Given the description of an element on the screen output the (x, y) to click on. 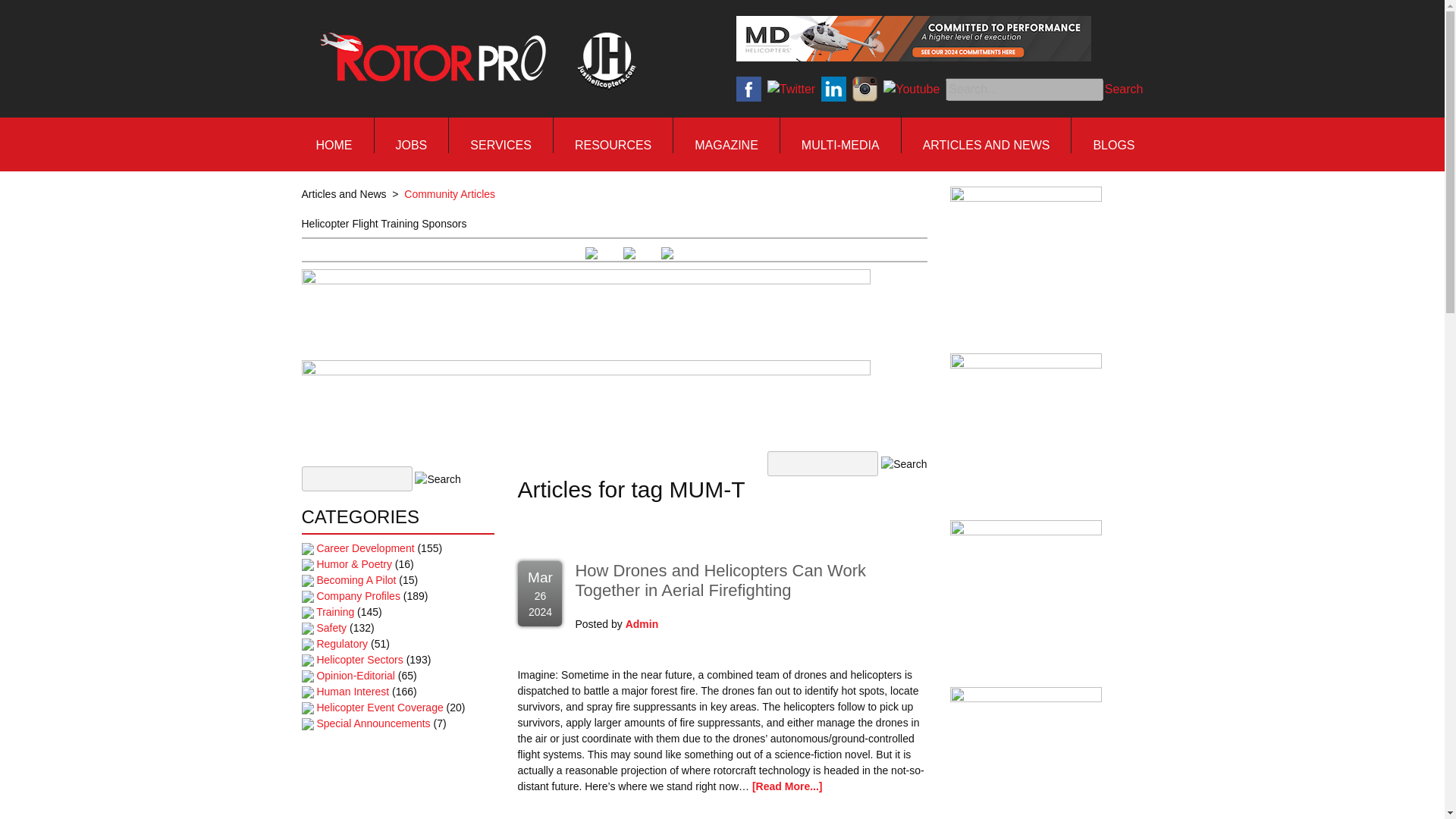
Search (1123, 88)
Just Helicopters (474, 58)
HOME (333, 145)
SERVICES (500, 145)
RESOURCES (612, 145)
JOBS (410, 145)
MULTI-MEDIA (840, 145)
MAGAZINE (726, 145)
Clear search text (1089, 111)
ARTICLES AND NEWS (986, 145)
